Given the description of an element on the screen output the (x, y) to click on. 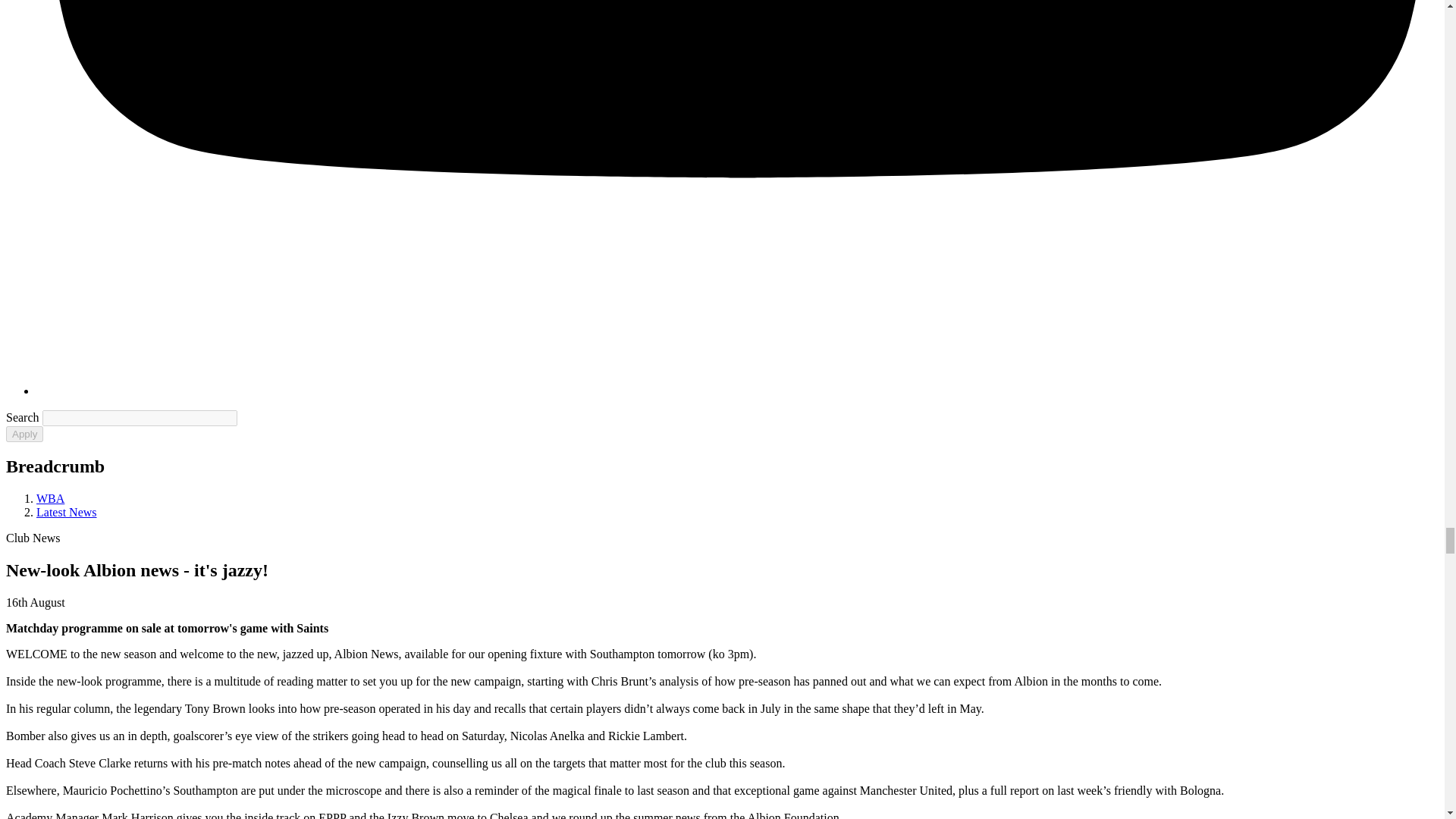
Apply (24, 433)
